Given the description of an element on the screen output the (x, y) to click on. 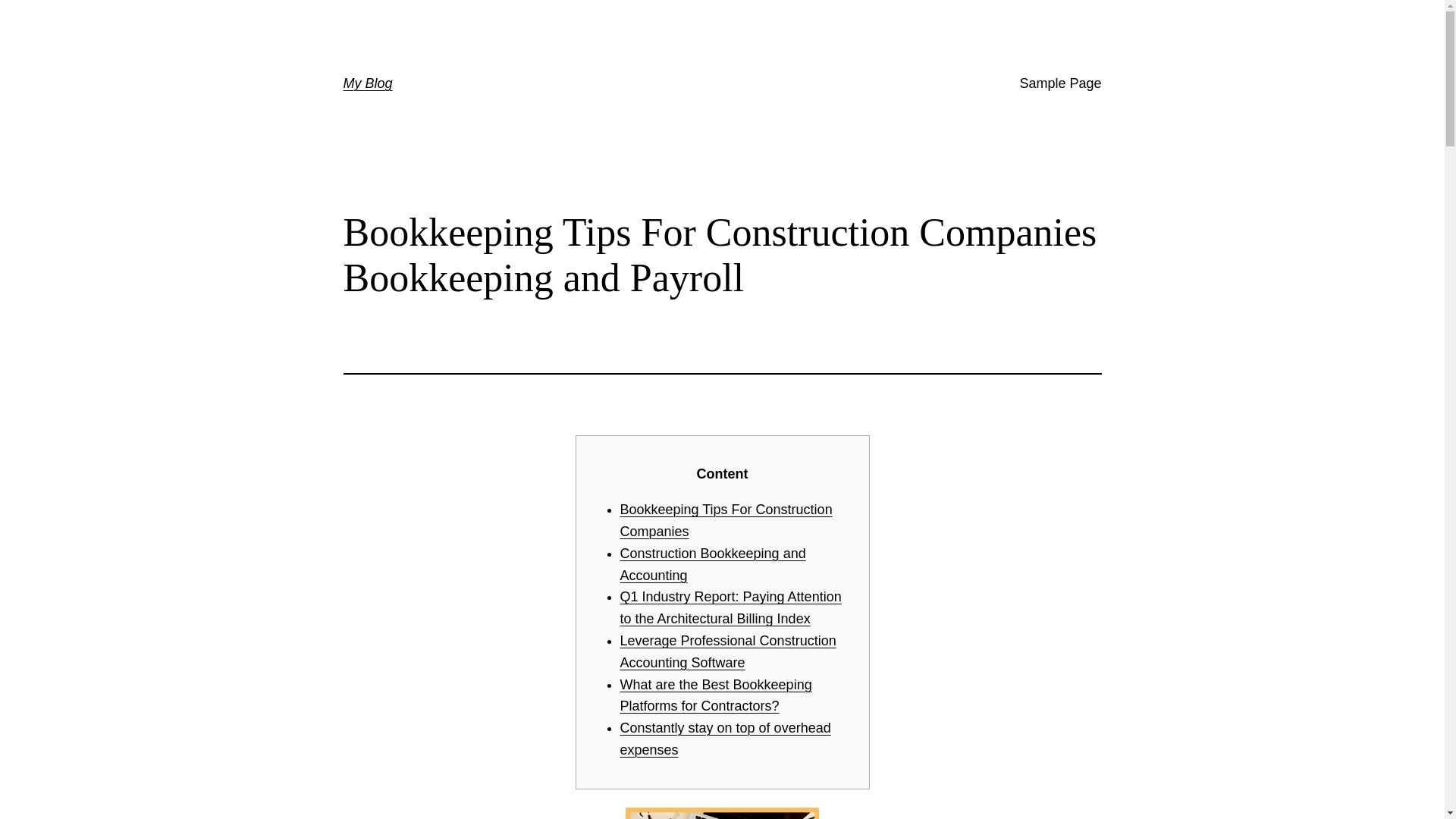
Leverage Professional Construction Accounting Software (727, 651)
Bookkeeping Tips For Construction Companies (726, 520)
Constantly stay on top of overhead expenses (725, 738)
Sample Page (1059, 83)
Construction Bookkeeping and Accounting (713, 564)
My Blog (366, 83)
What are the Best Bookkeeping Platforms for Contractors? (716, 695)
